Given the description of an element on the screen output the (x, y) to click on. 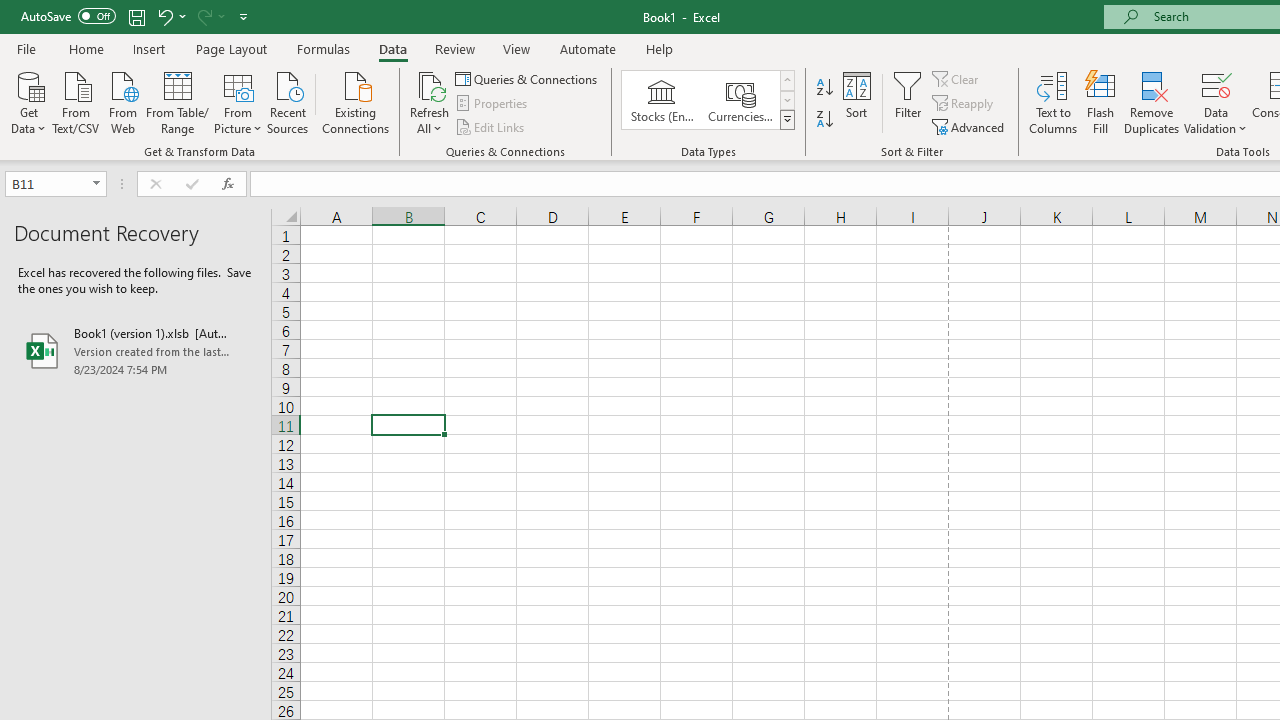
Advanced... (970, 126)
Sort Z to A (824, 119)
Get Data (28, 101)
Currencies (English) (740, 100)
